Given the description of an element on the screen output the (x, y) to click on. 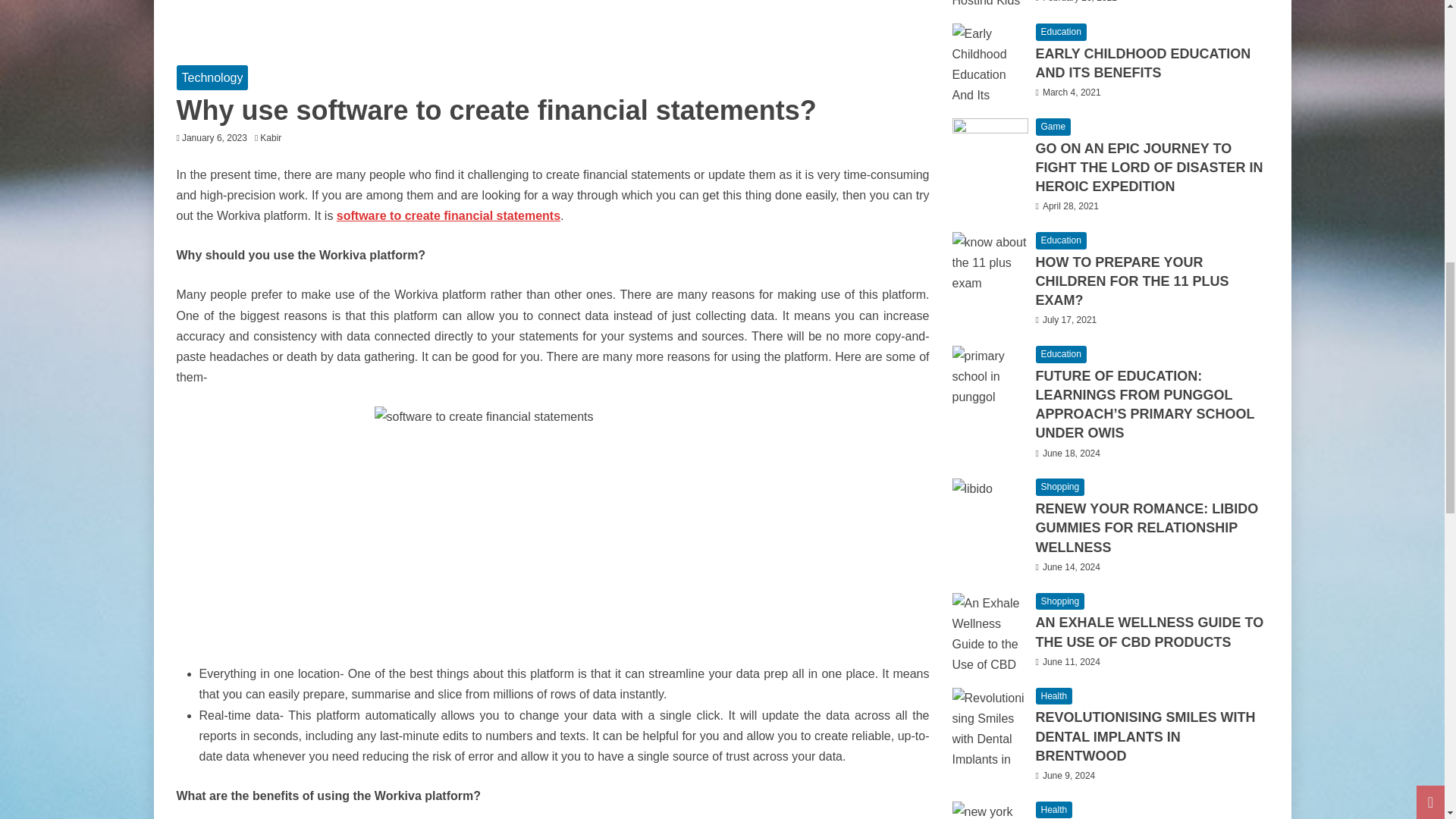
Technology (211, 77)
January 6, 2023 (214, 137)
software to create financial statements (448, 215)
Kabir (274, 137)
